Given the description of an element on the screen output the (x, y) to click on. 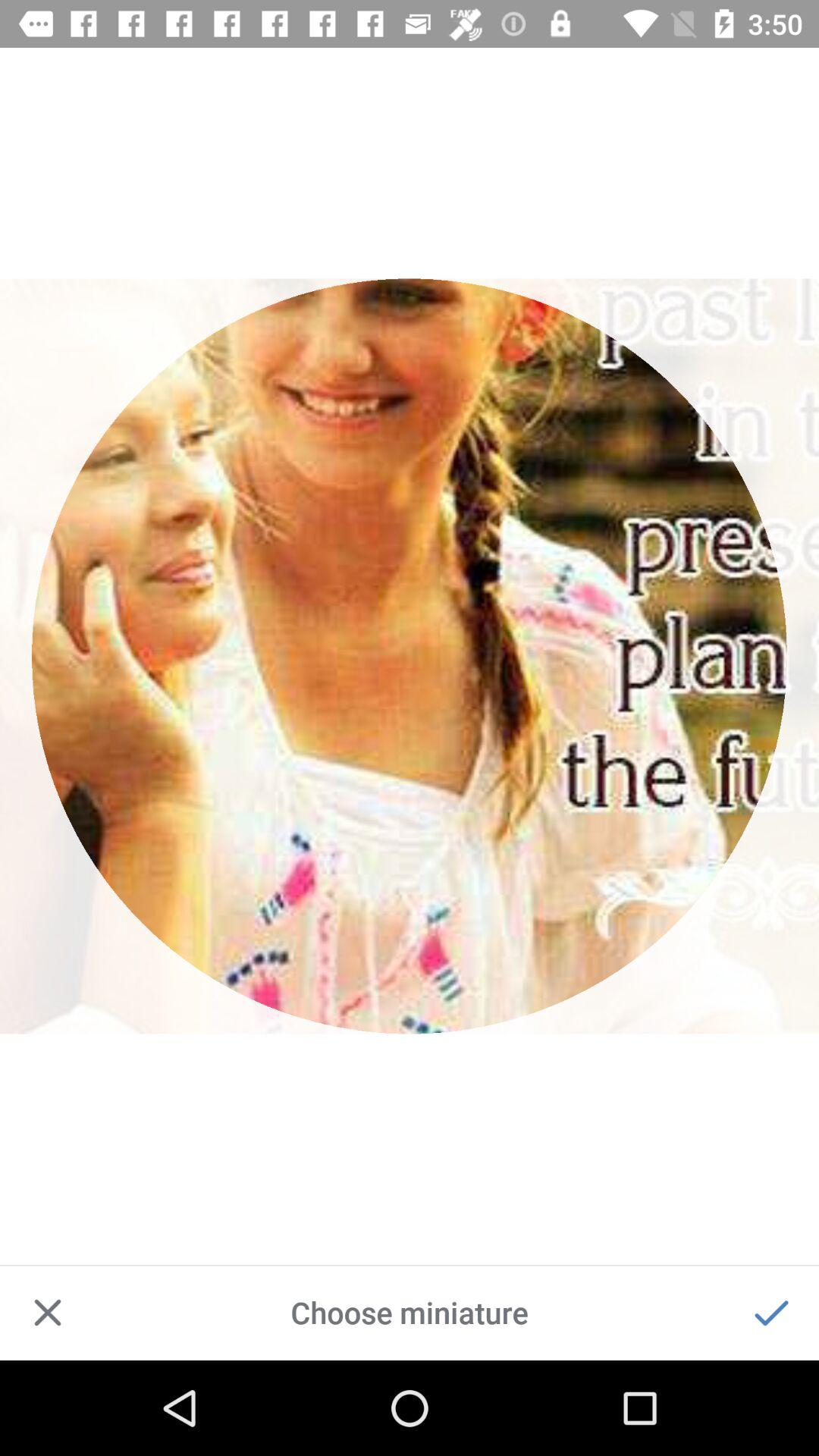
launch the icon to the right of choose miniature item (771, 1312)
